Given the description of an element on the screen output the (x, y) to click on. 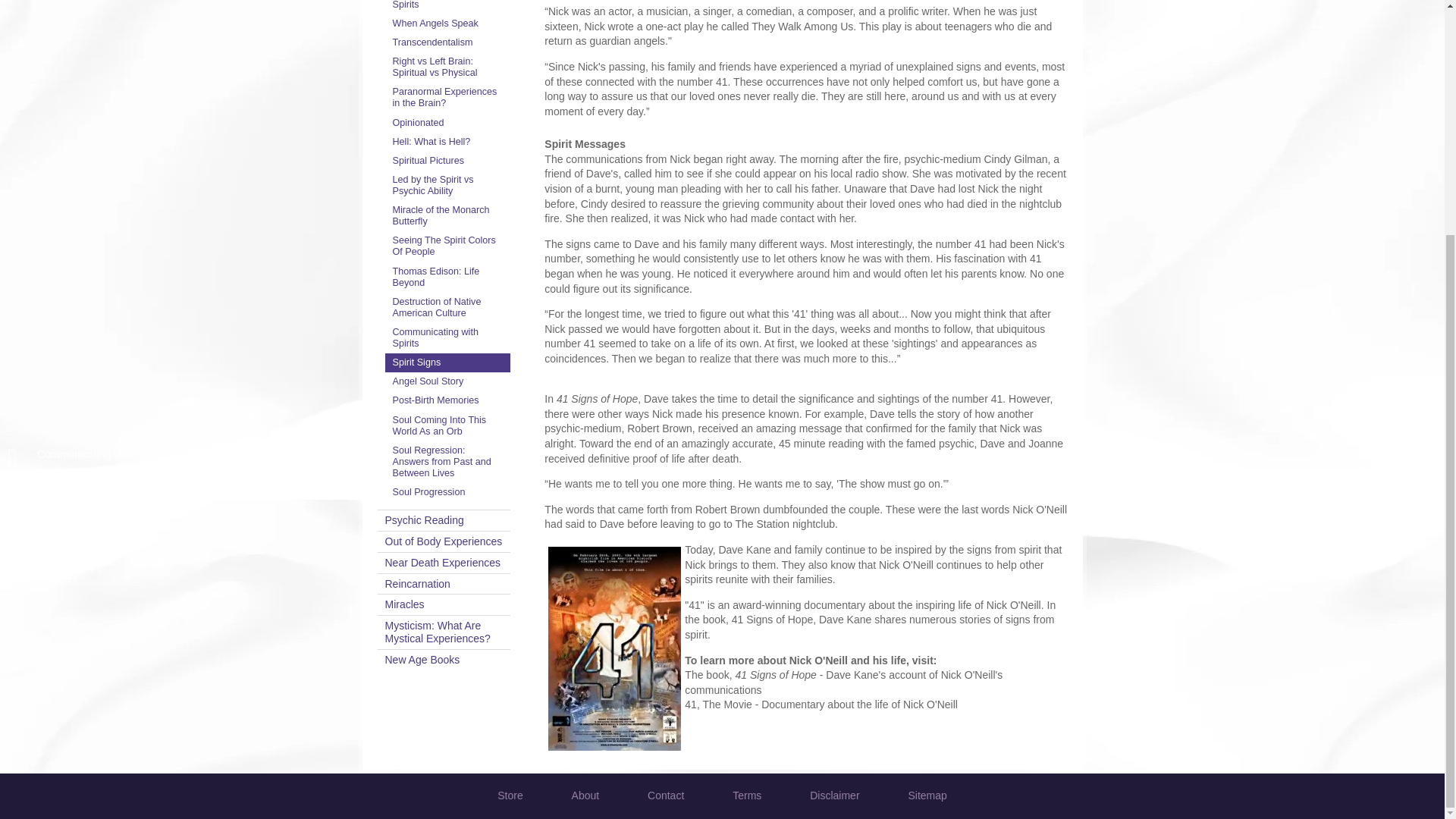
Spirit Signs (448, 362)
Paranormal Experiences in the Brain? (448, 97)
Led by the Spirit vs Psychic Ability (448, 185)
Spiritual Pictures (448, 160)
Right vs Left Brain: Spiritual vs Physical (448, 67)
Transcendentalism (448, 42)
Meditation to Talk with Spirits (448, 7)
Soul Regression: Answers from Past and Between Lives (448, 462)
Opinionated (448, 122)
Destruction of Native American Culture (448, 307)
Thomas Edison: Life Beyond (448, 277)
Soul Coming Into This World As an Orb (448, 425)
When Angels Speak (448, 23)
Seeing The Spirit Colors Of People (448, 245)
Hell: What is Hell? (448, 141)
